Given the description of an element on the screen output the (x, y) to click on. 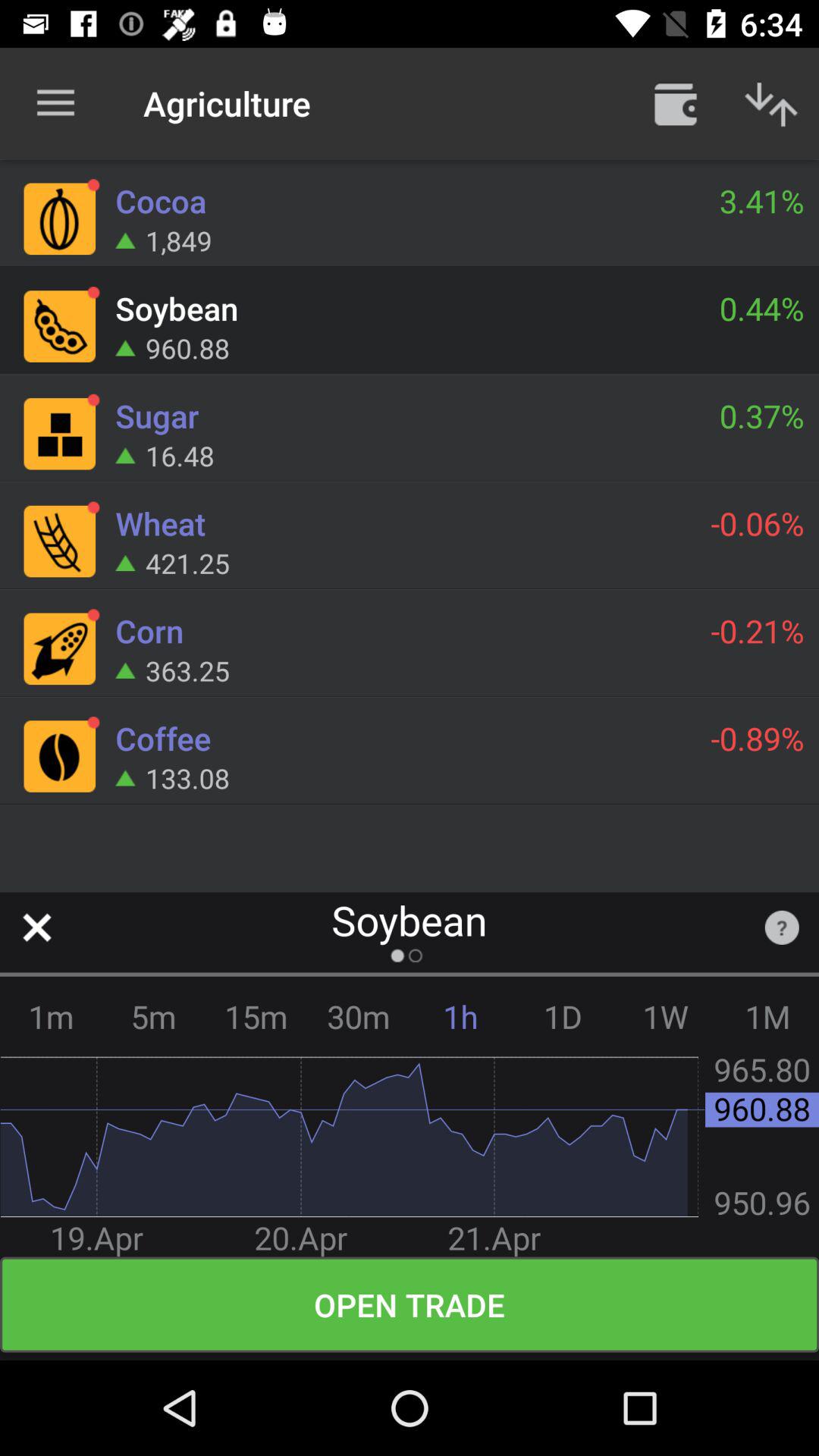
turn off the 15m item (255, 1016)
